Given the description of an element on the screen output the (x, y) to click on. 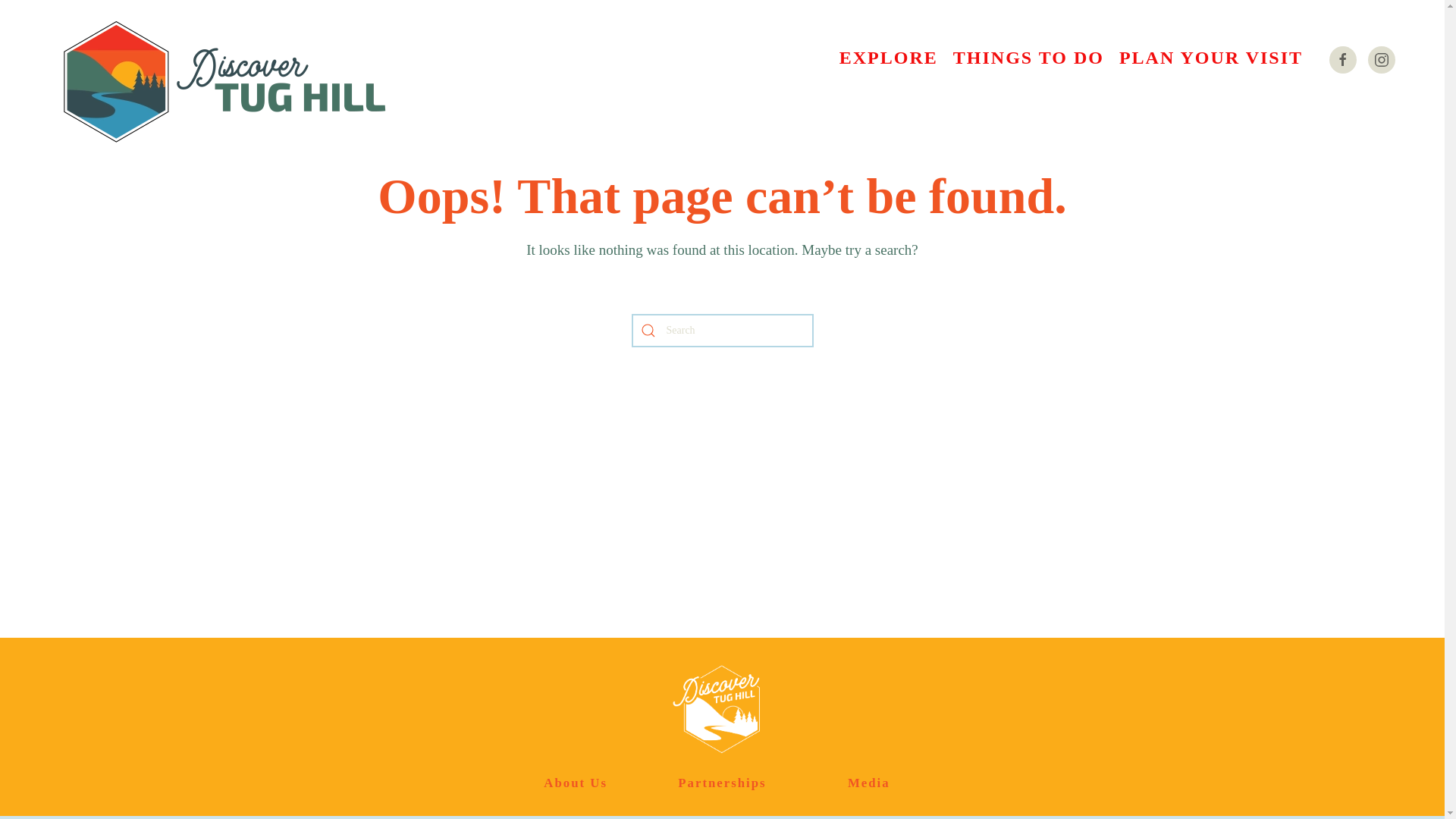
Media (868, 783)
PLAN YOUR VISIT (1211, 57)
About Us (574, 783)
THINGS TO DO (1028, 57)
Partnerships (721, 783)
EXPLORE (887, 57)
